Given the description of an element on the screen output the (x, y) to click on. 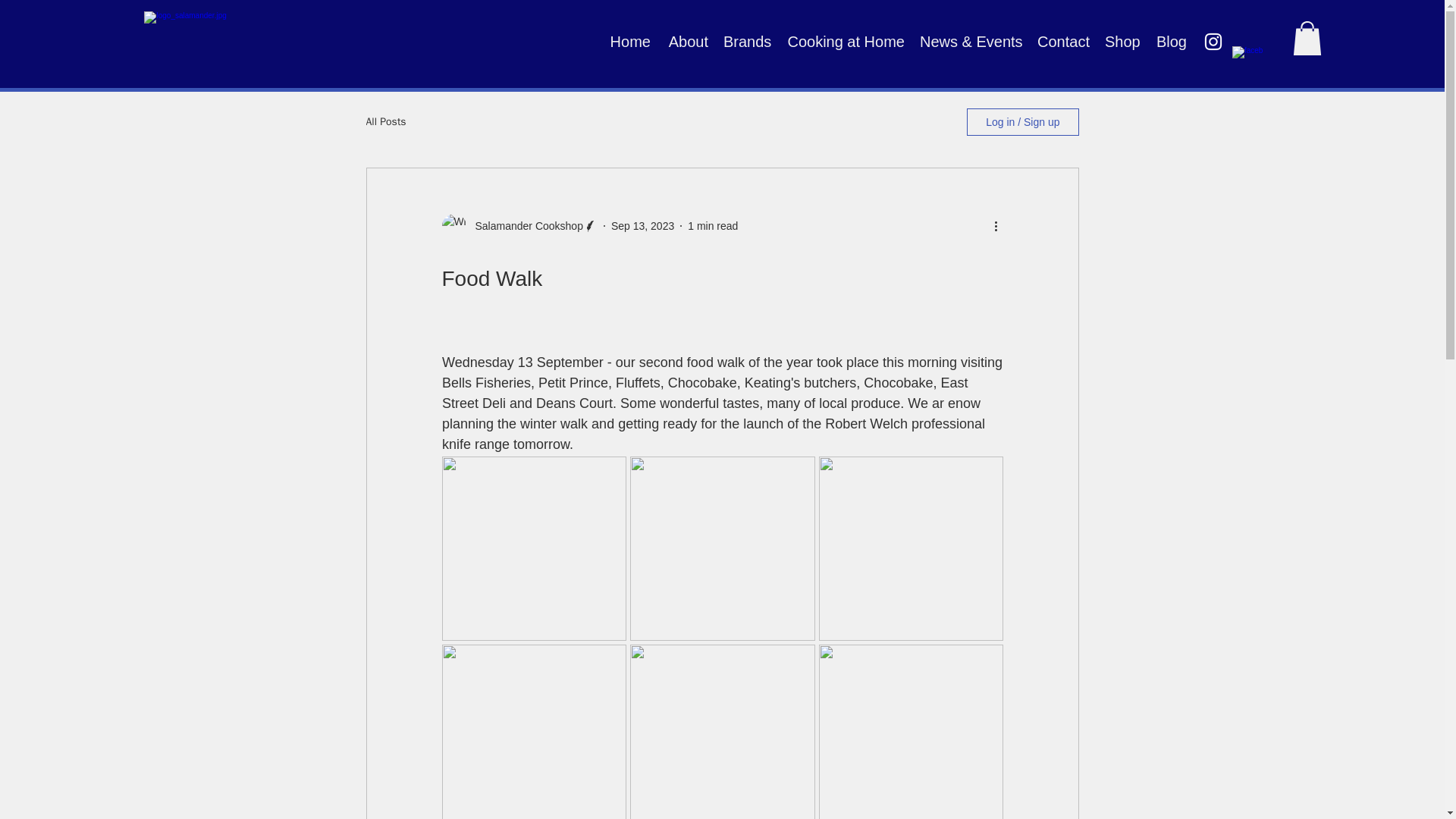
Sep 13, 2023 (642, 225)
Brands (746, 41)
All Posts (385, 121)
Shop (1122, 41)
Home (630, 41)
About (687, 41)
Salamander Cookshop (523, 226)
Contact (1062, 41)
Cooking at Home (844, 41)
1 min read (712, 225)
Blog (1170, 41)
